Given the description of an element on the screen output the (x, y) to click on. 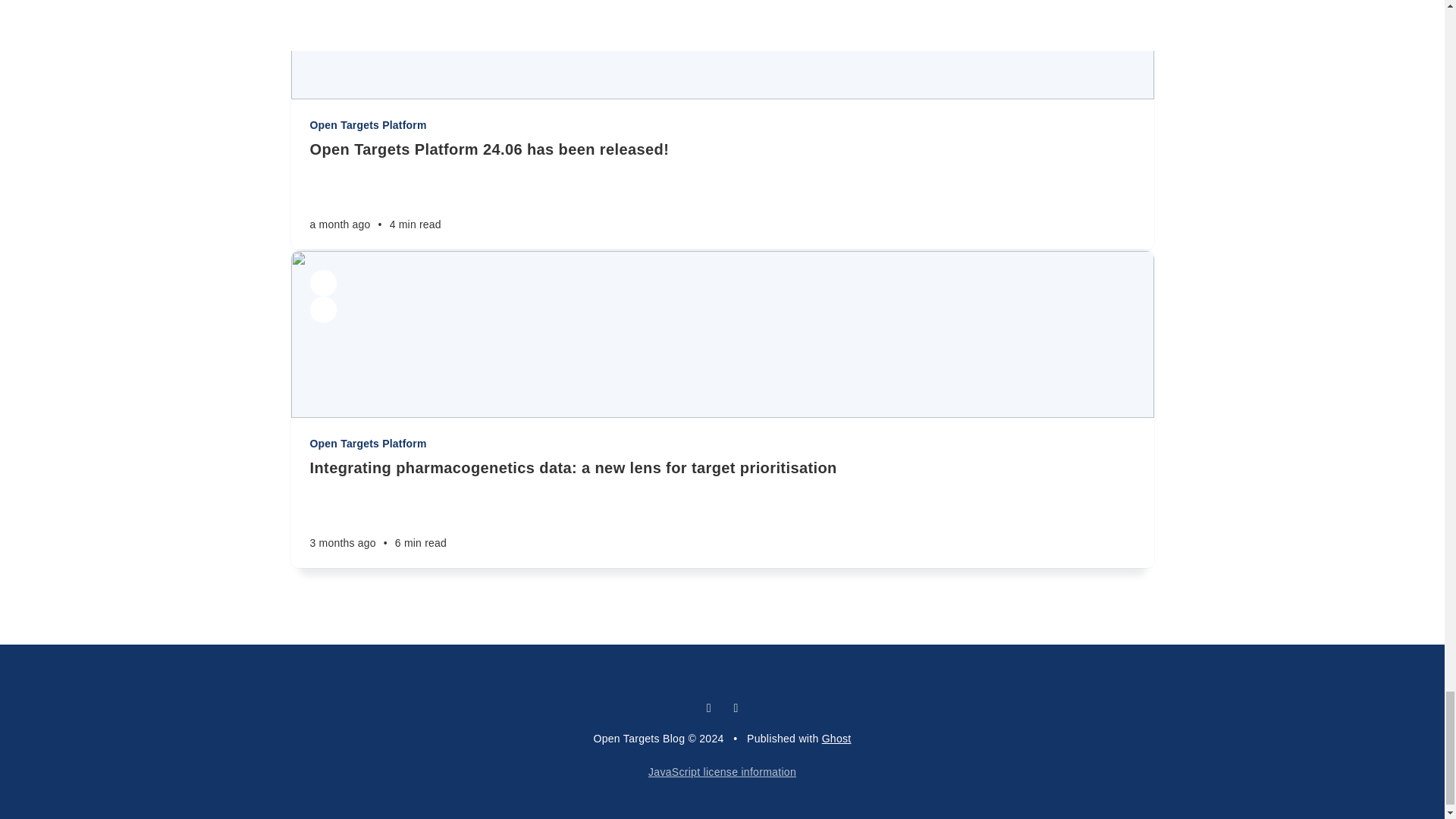
Open Targets Platform 24.06 has been released! (721, 148)
